Given the description of an element on the screen output the (x, y) to click on. 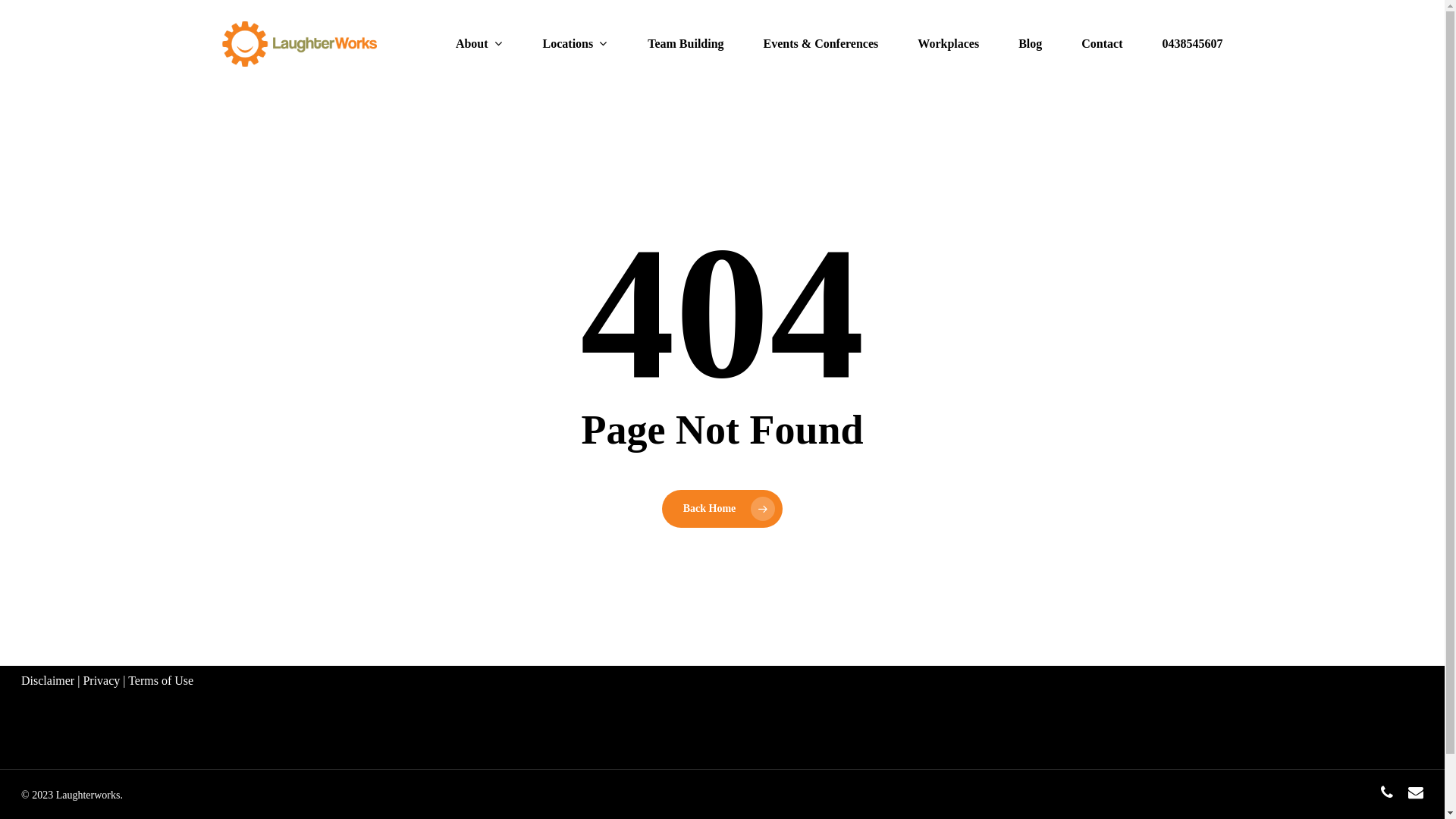
Terms of Use Element type: text (160, 680)
Disclaimer Element type: text (47, 680)
About Element type: text (479, 43)
Workplaces Element type: text (948, 43)
Privacy Element type: text (100, 680)
Team Building Element type: text (685, 43)
Back Home Element type: text (722, 508)
Events & Conferences Element type: text (820, 43)
Blog Element type: text (1029, 43)
Contact Element type: text (1101, 43)
Locations Element type: text (575, 43)
